Given the description of an element on the screen output the (x, y) to click on. 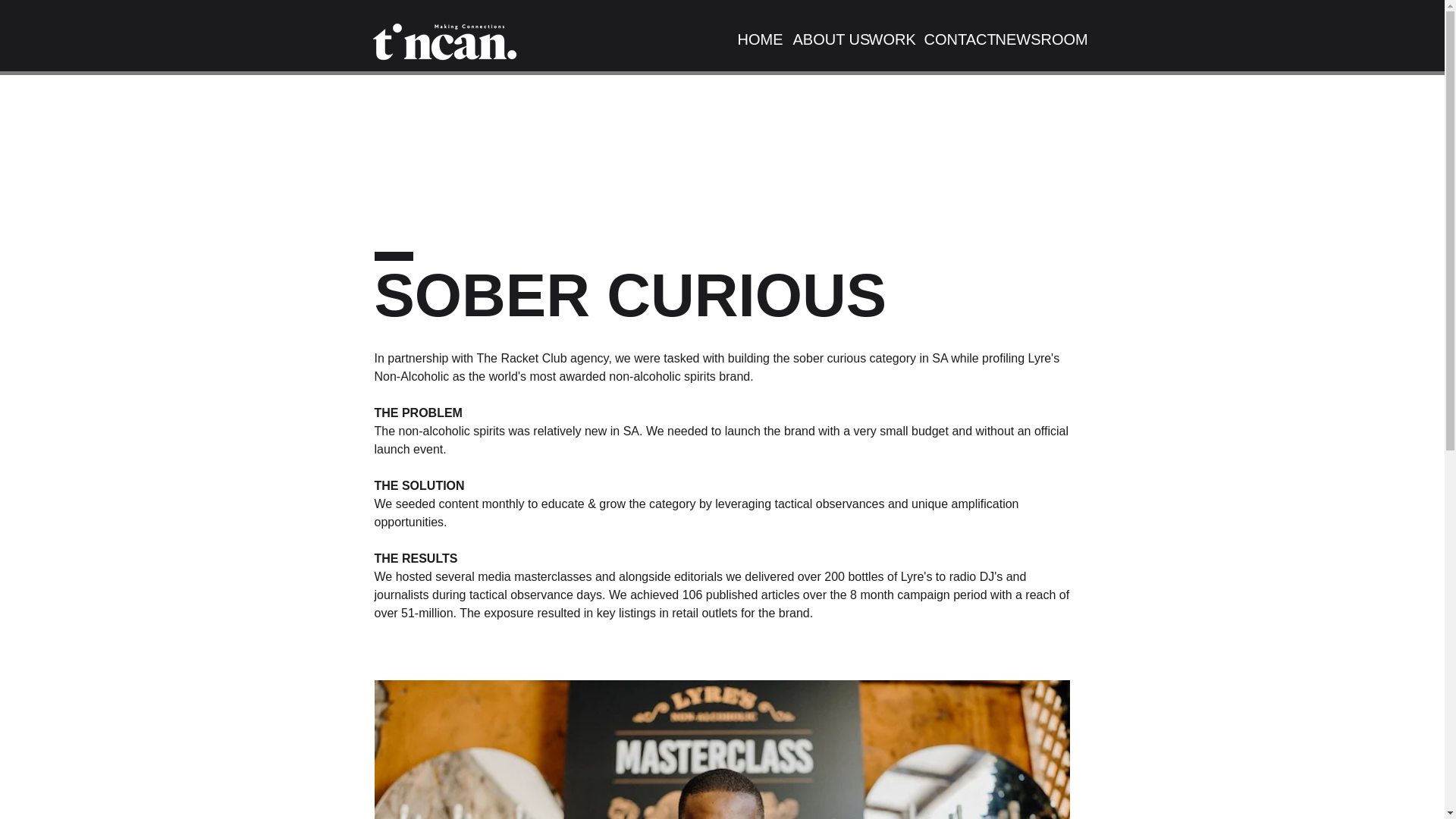
CONTACT (948, 39)
ABOUT US (818, 39)
HOME (753, 39)
NEWSROOM (1027, 39)
WORK (884, 39)
